Given the description of an element on the screen output the (x, y) to click on. 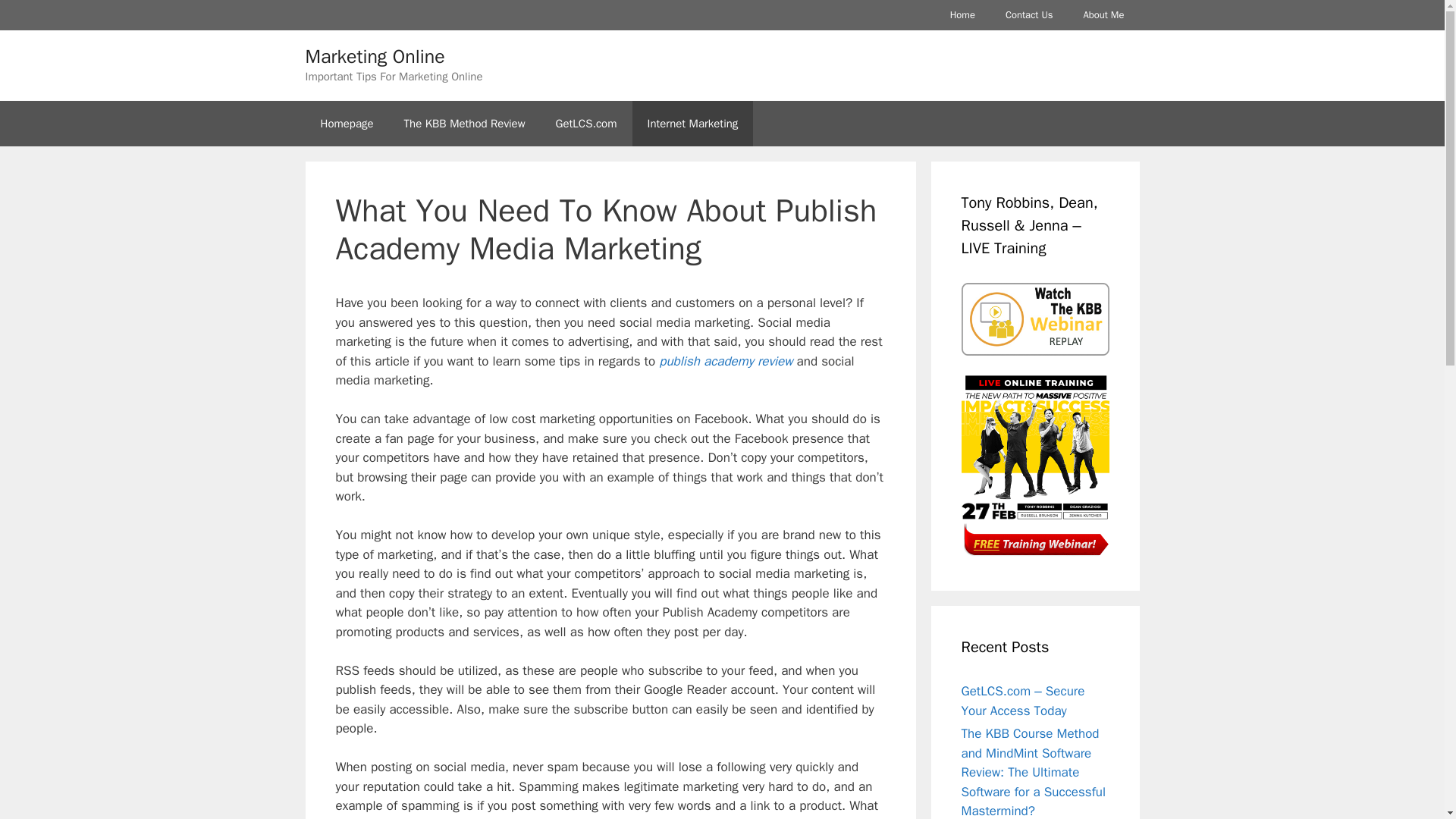
publish academy review (725, 360)
Marketing Online (374, 56)
Home (962, 15)
Contact Us (1029, 15)
Internet Marketing (692, 122)
The KBB Method Review (464, 122)
About Me (1102, 15)
Homepage (346, 122)
GetLCS.com (585, 122)
